Given the description of an element on the screen output the (x, y) to click on. 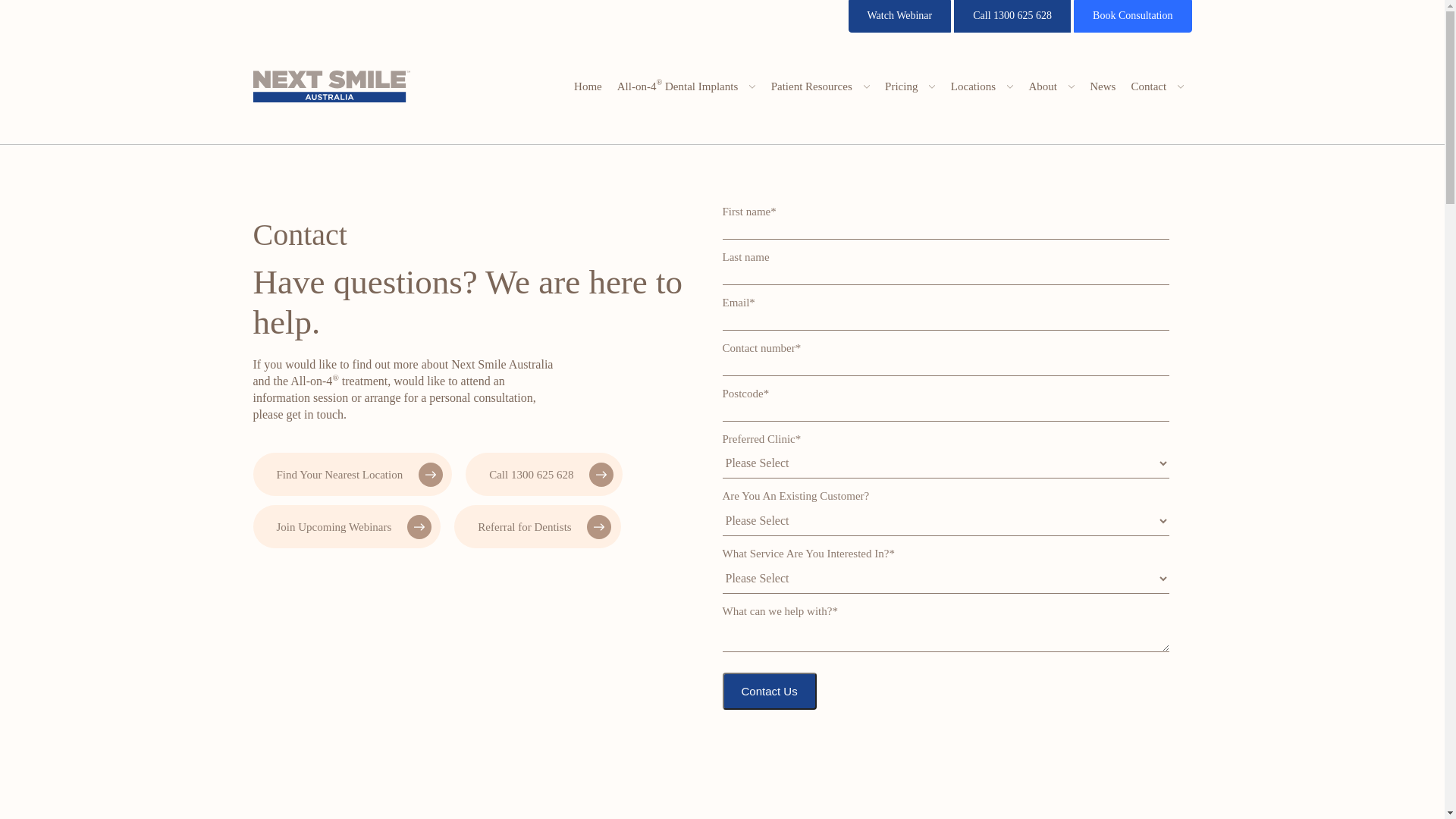
Referral for Dentists Element type: text (537, 526)
Join Upcoming Webinars Element type: text (347, 526)
News Element type: text (1102, 86)
Locations Element type: text (982, 86)
Call 1300 625 628 Element type: text (543, 473)
Contact Us Element type: text (768, 690)
Call 1300 625 628 Element type: text (1011, 16)
Watch Webinar Element type: text (899, 16)
About Element type: text (1051, 86)
Find Your Nearest Location Element type: text (352, 473)
Home Element type: text (587, 86)
Patient Resources Element type: text (820, 86)
Pricing Element type: text (910, 86)
Book Consultation Element type: text (1132, 16)
Contact Element type: text (1157, 86)
